Given the description of an element on the screen output the (x, y) to click on. 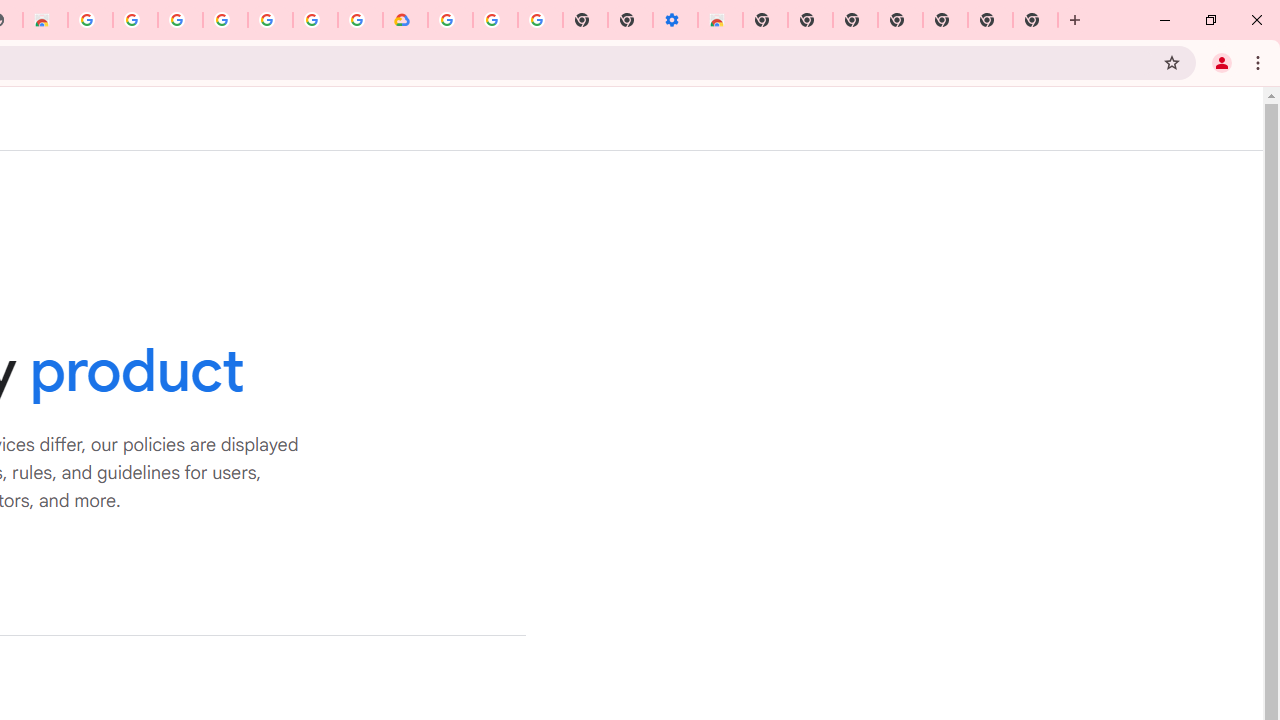
New Tab (944, 20)
Chrome Web Store - Household (45, 20)
Sign in - Google Accounts (450, 20)
Chrome Web Store - Accessibility extensions (720, 20)
Sign in - Google Accounts (180, 20)
